Given the description of an element on the screen output the (x, y) to click on. 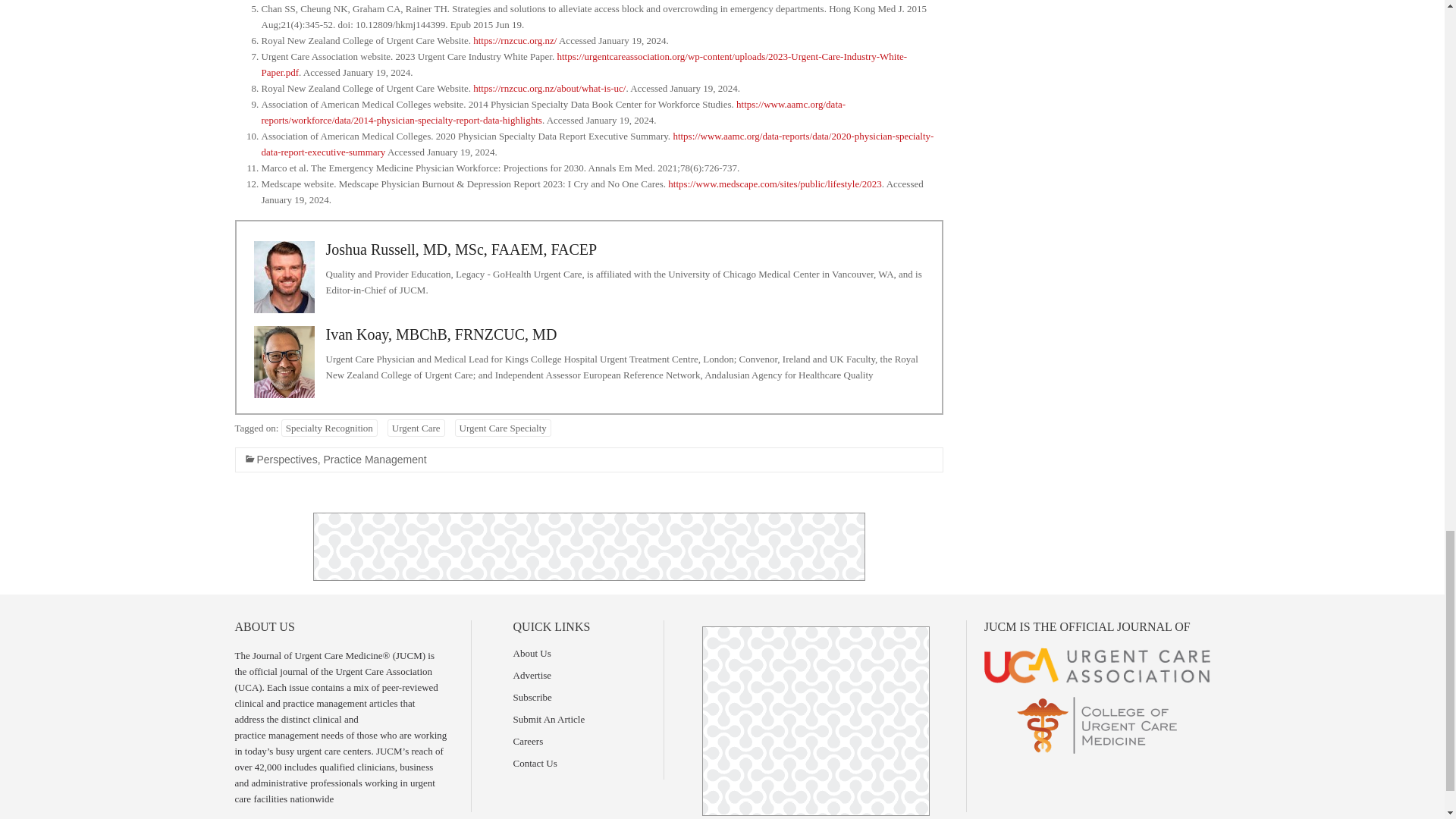
3rd party ad content (815, 720)
